Given the description of an element on the screen output the (x, y) to click on. 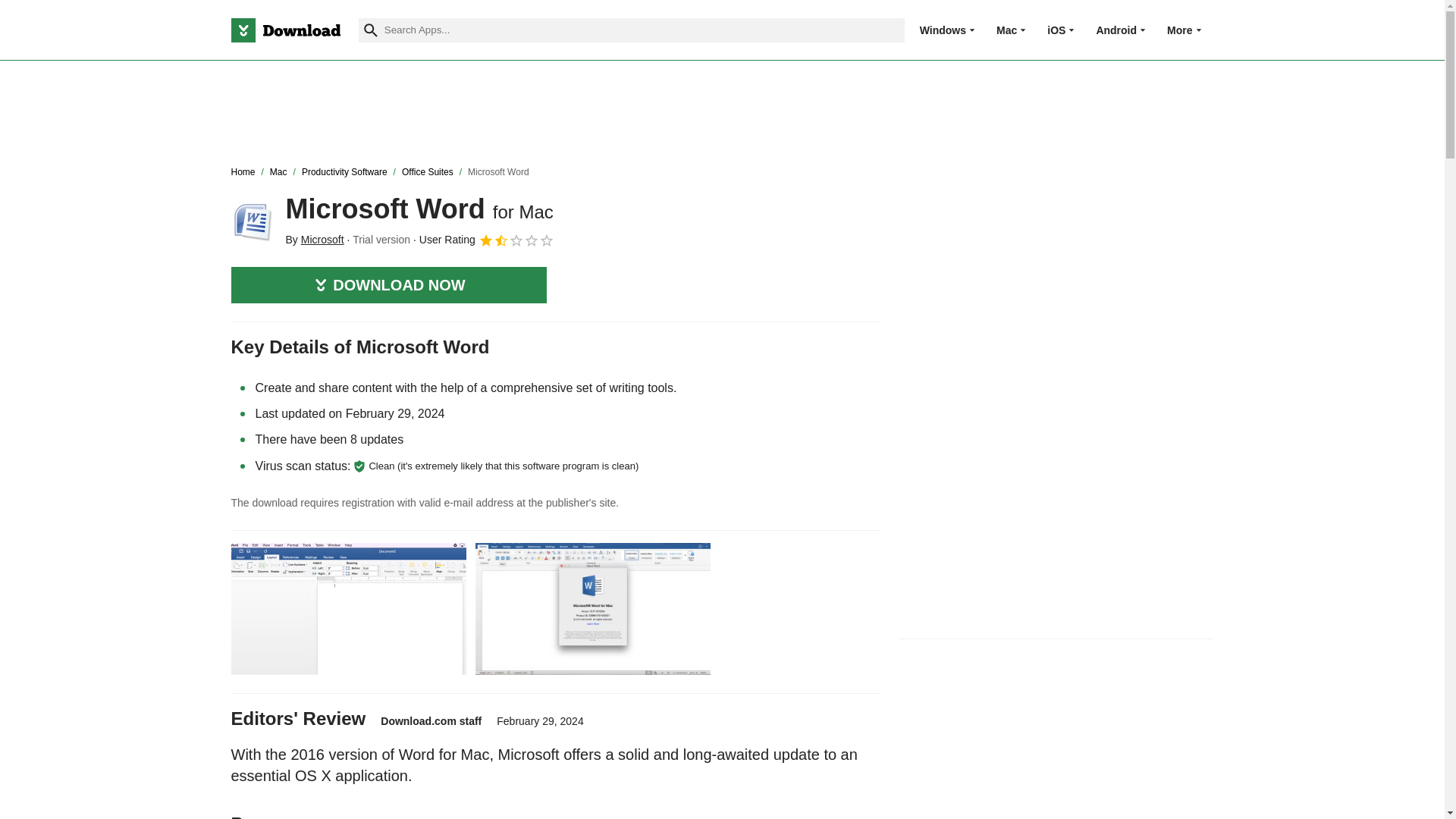
Microsoft Word for Mac (251, 220)
Mac (1005, 29)
Windows (943, 29)
